Given the description of an element on the screen output the (x, y) to click on. 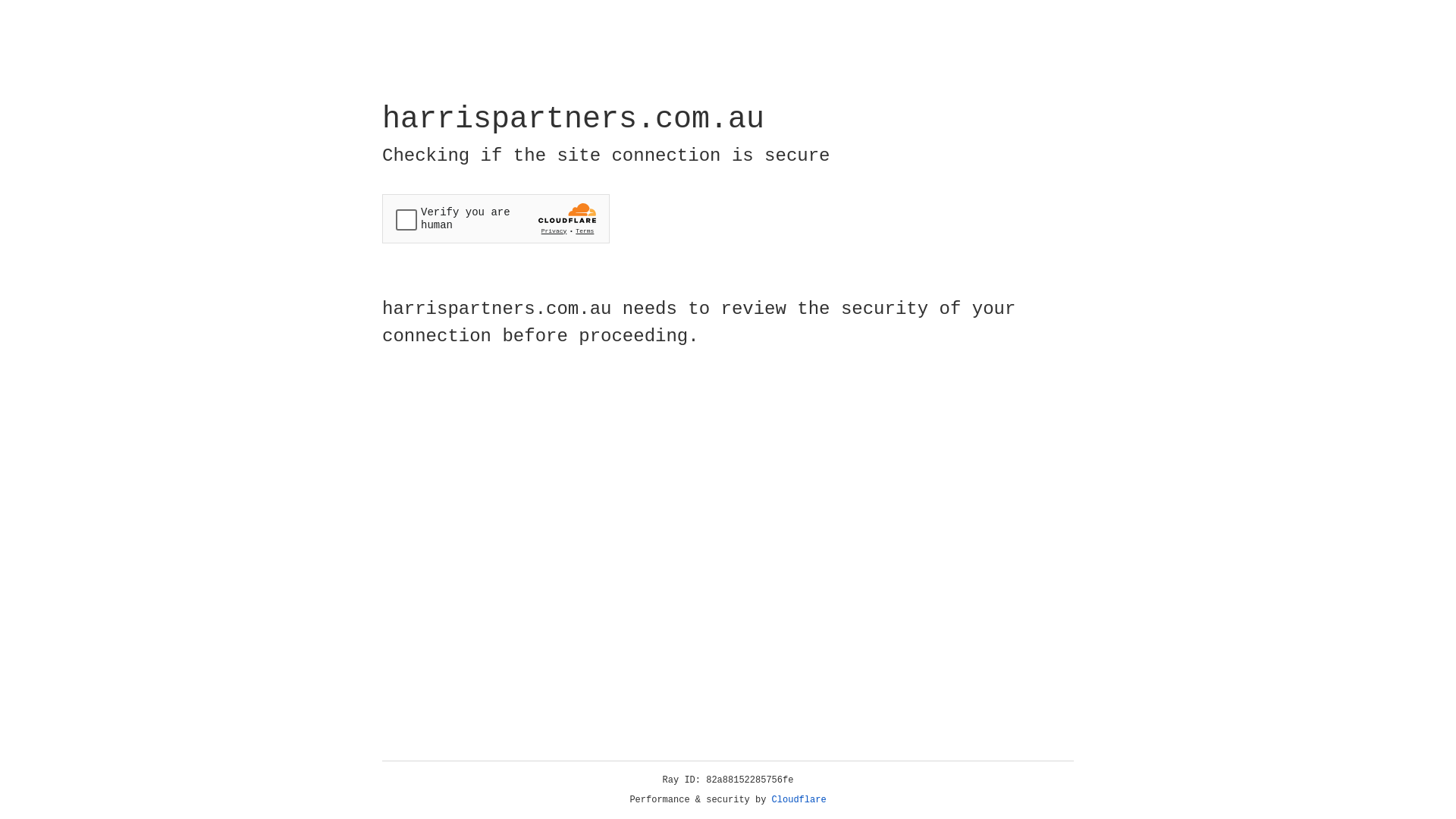
Cloudflare Element type: text (798, 799)
Widget containing a Cloudflare security challenge Element type: hover (495, 218)
